Given the description of an element on the screen output the (x, y) to click on. 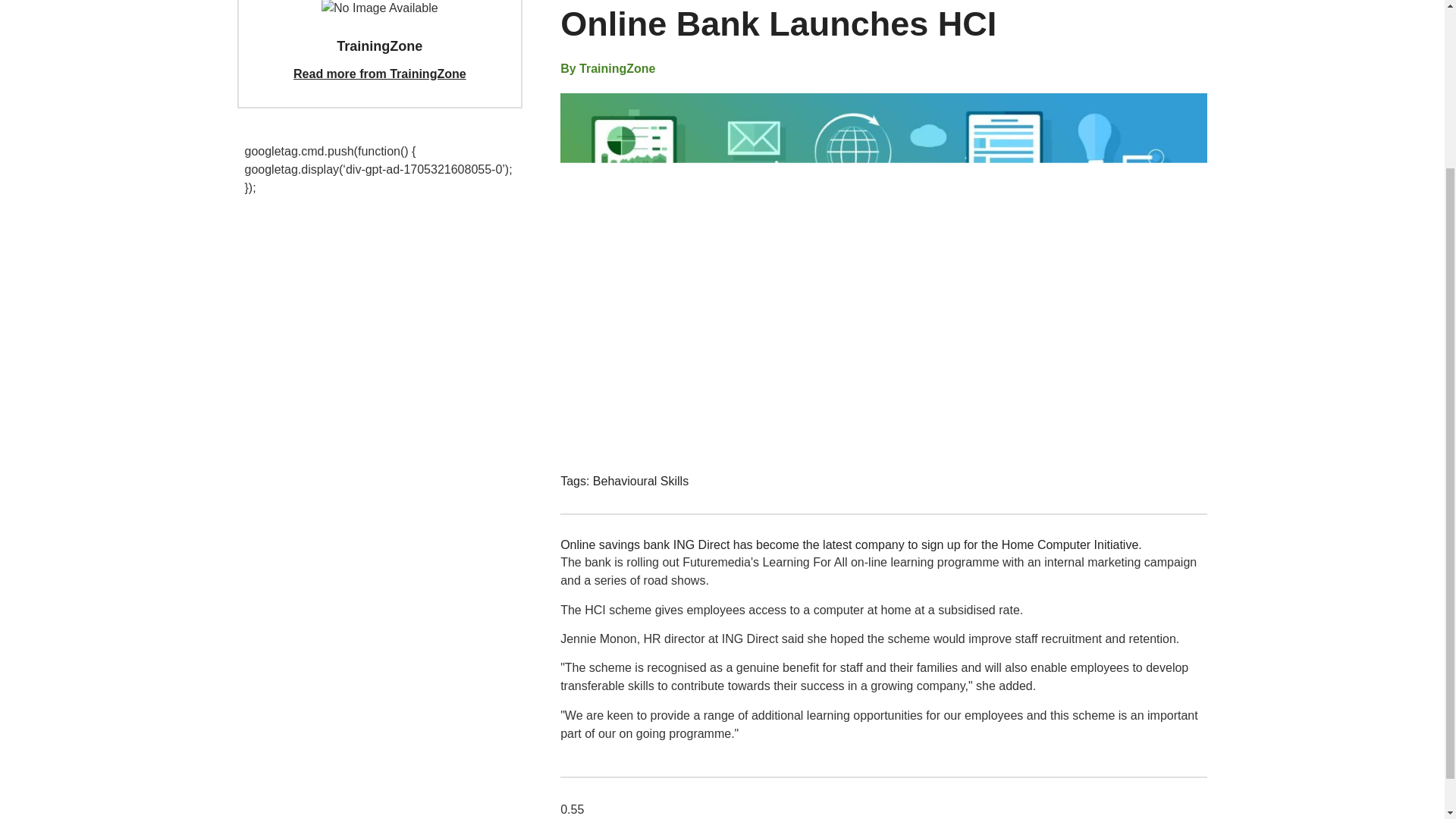
By TrainingZone (607, 68)
Read more from TrainingZone (379, 73)
Behavioural Skills (640, 481)
